Given the description of an element on the screen output the (x, y) to click on. 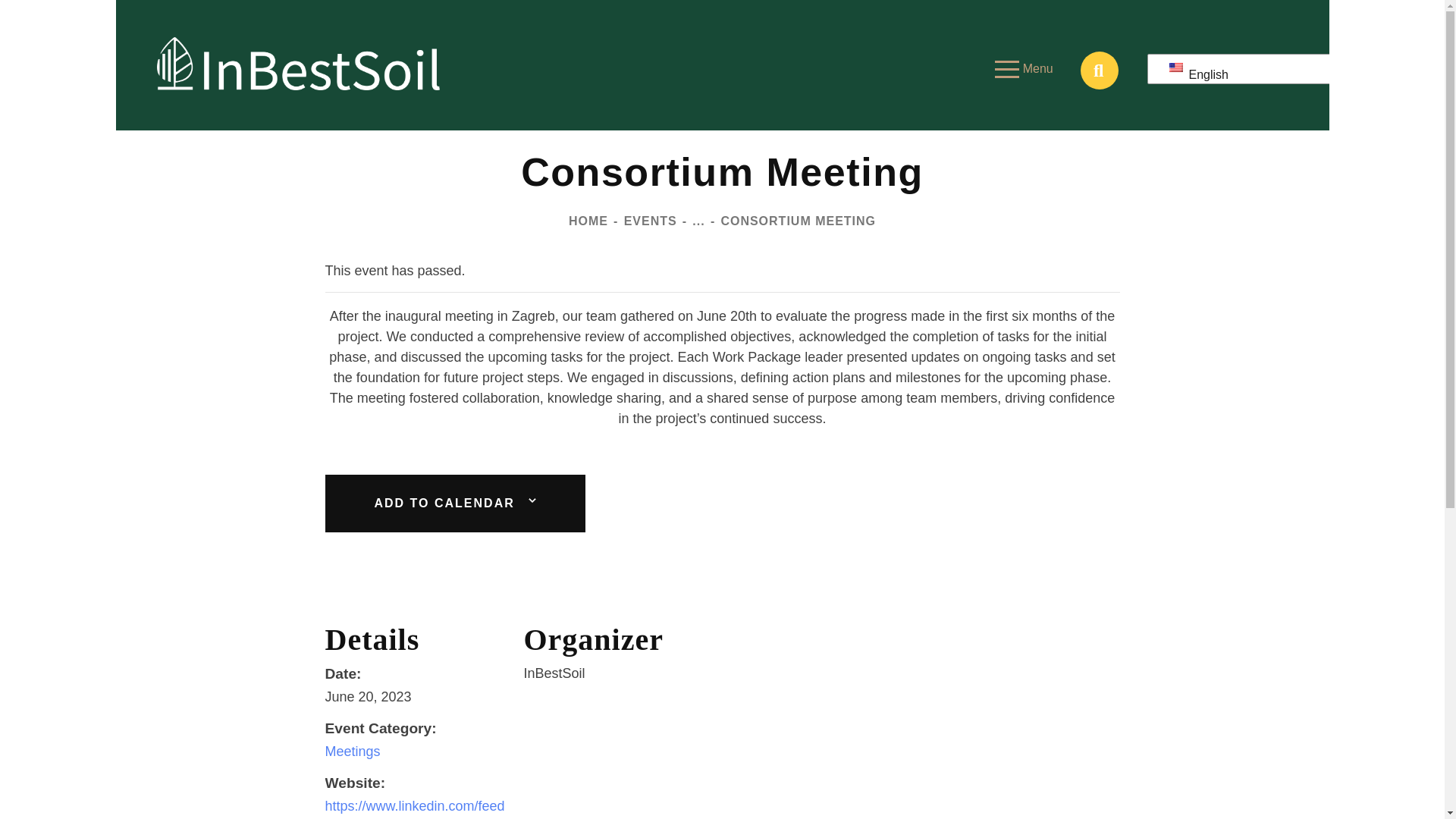
Menu (1023, 68)
English (1257, 74)
